Given the description of an element on the screen output the (x, y) to click on. 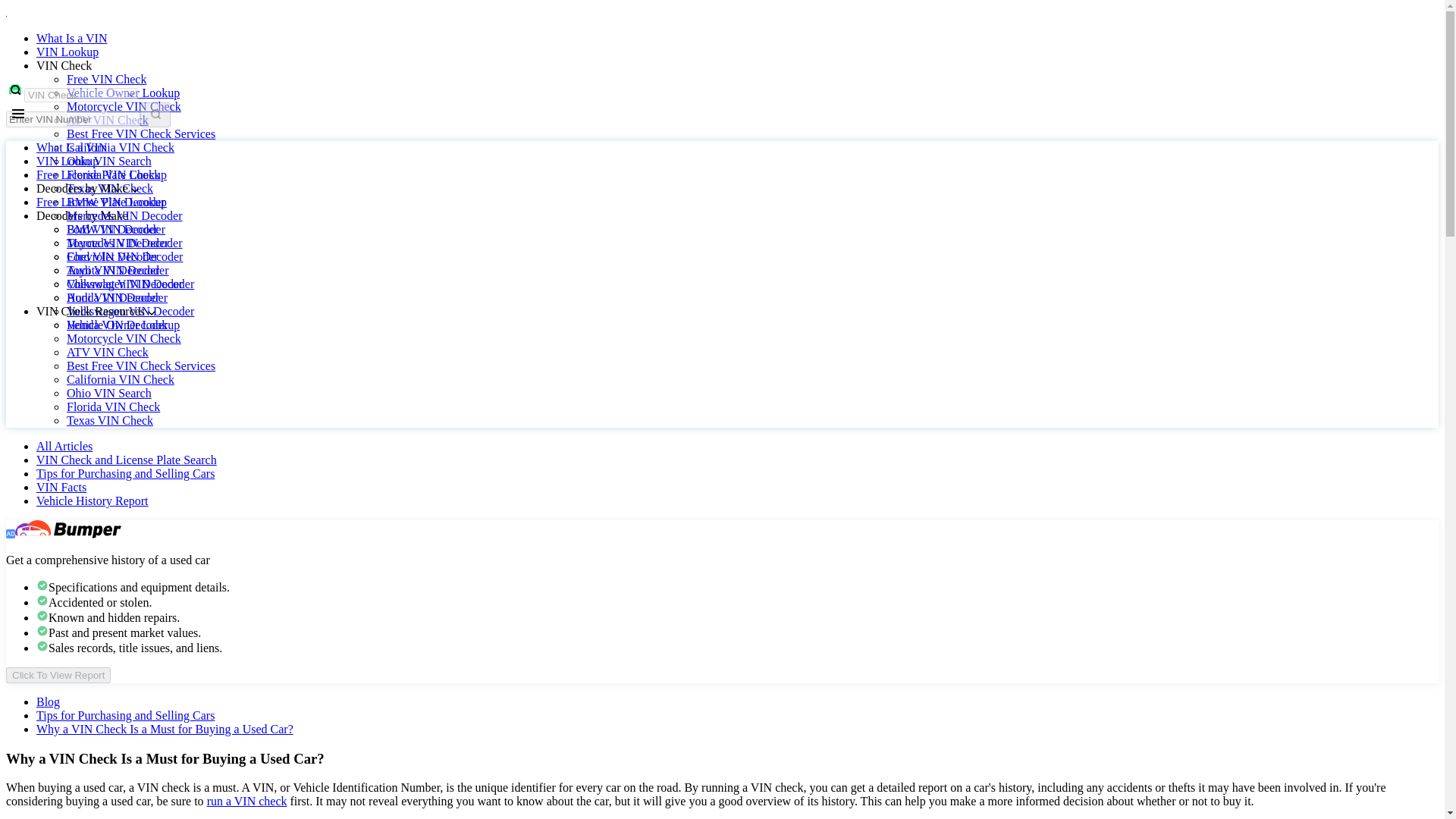
Ford VIN Decoder (112, 256)
Free License Plate Lookup (101, 201)
VIN Lookup (67, 51)
California VIN Check (120, 146)
BMW VIN Decoder (115, 228)
What Is a VIN (71, 38)
Best Free VIN Check Services (140, 133)
Free License Plate Lookup (101, 174)
Florida VIN Check (113, 174)
Audi VIN Decoder (112, 297)
ATV VIN Check (107, 351)
Volkswagen VIN Decoder (129, 310)
Ohio VIN Search (108, 160)
Toyota VIN Decoder (117, 269)
